Given the description of an element on the screen output the (x, y) to click on. 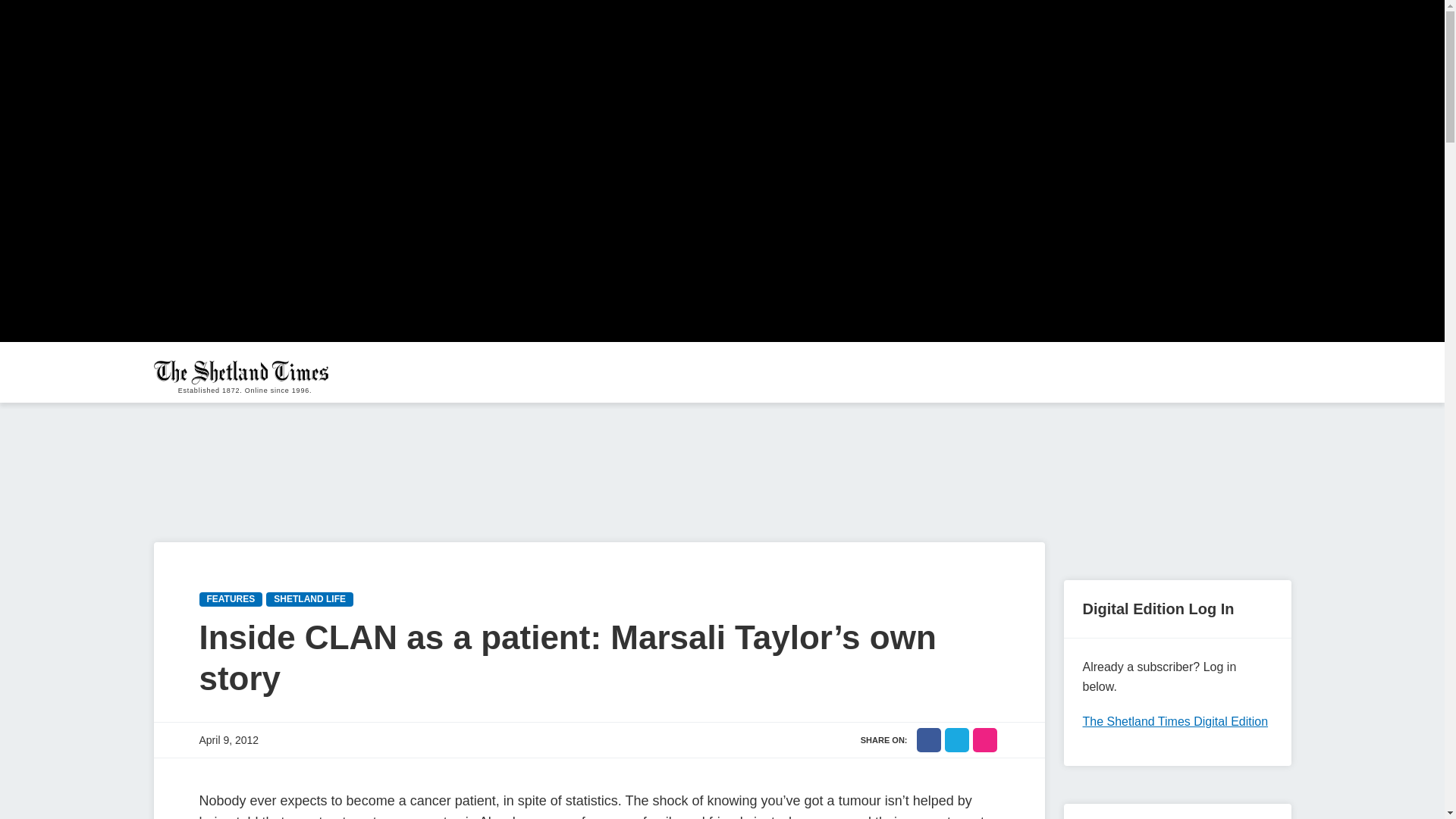
Established 1872. Online since 1996. (244, 372)
FEATURES (230, 599)
The Shetland Times Digital Edition (1175, 721)
SHETLAND LIFE (309, 599)
